Given the description of an element on the screen output the (x, y) to click on. 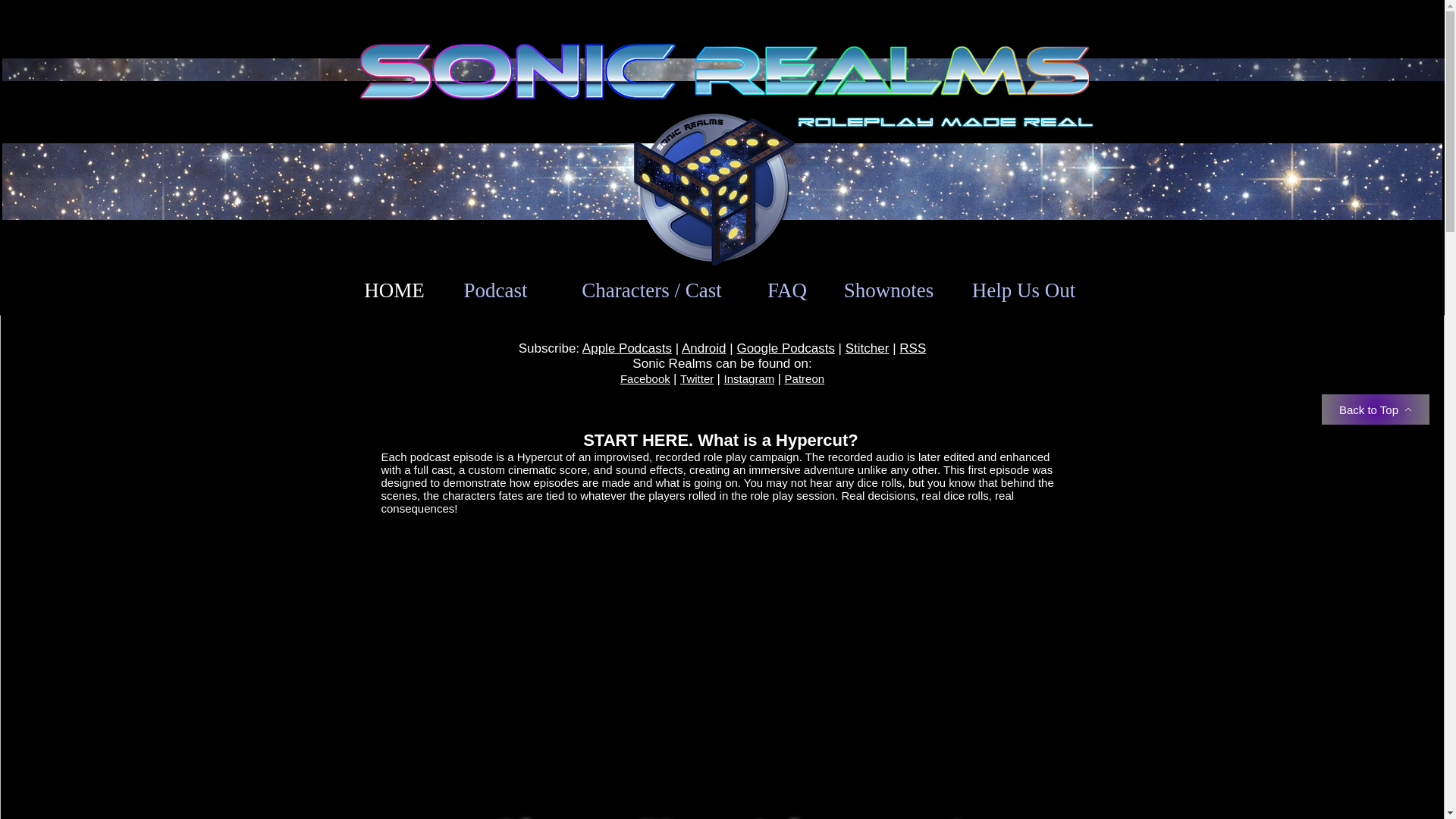
Android (703, 348)
RSS (912, 348)
Help Us Out (1023, 290)
Apple Podcasts (626, 348)
Patreon (804, 378)
Twitter (696, 378)
Google Podcasts (785, 348)
Facebook (644, 378)
Shownotes (888, 290)
Stitcher (867, 348)
